Given the description of an element on the screen output the (x, y) to click on. 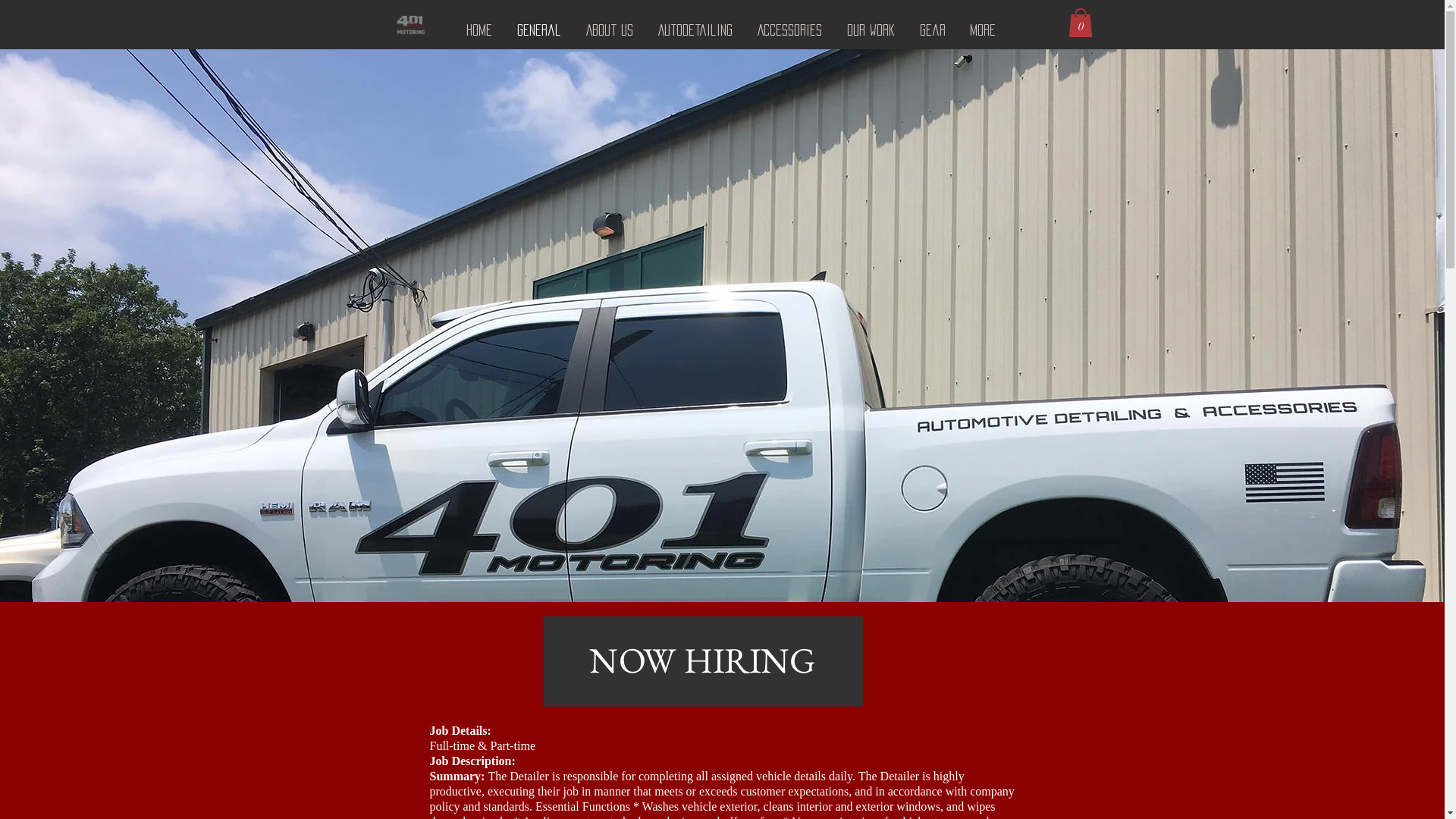
Home Element type: text (478, 30)
ACCESSORIES Element type: text (789, 30)
Gear Element type: text (931, 30)
AutoDetailing Element type: text (695, 30)
About Us Element type: text (609, 30)
NOW HIRING Element type: text (560, 620)
Our Work Element type: text (870, 30)
0 Element type: text (1079, 22)
General Element type: text (539, 30)
